Given the description of an element on the screen output the (x, y) to click on. 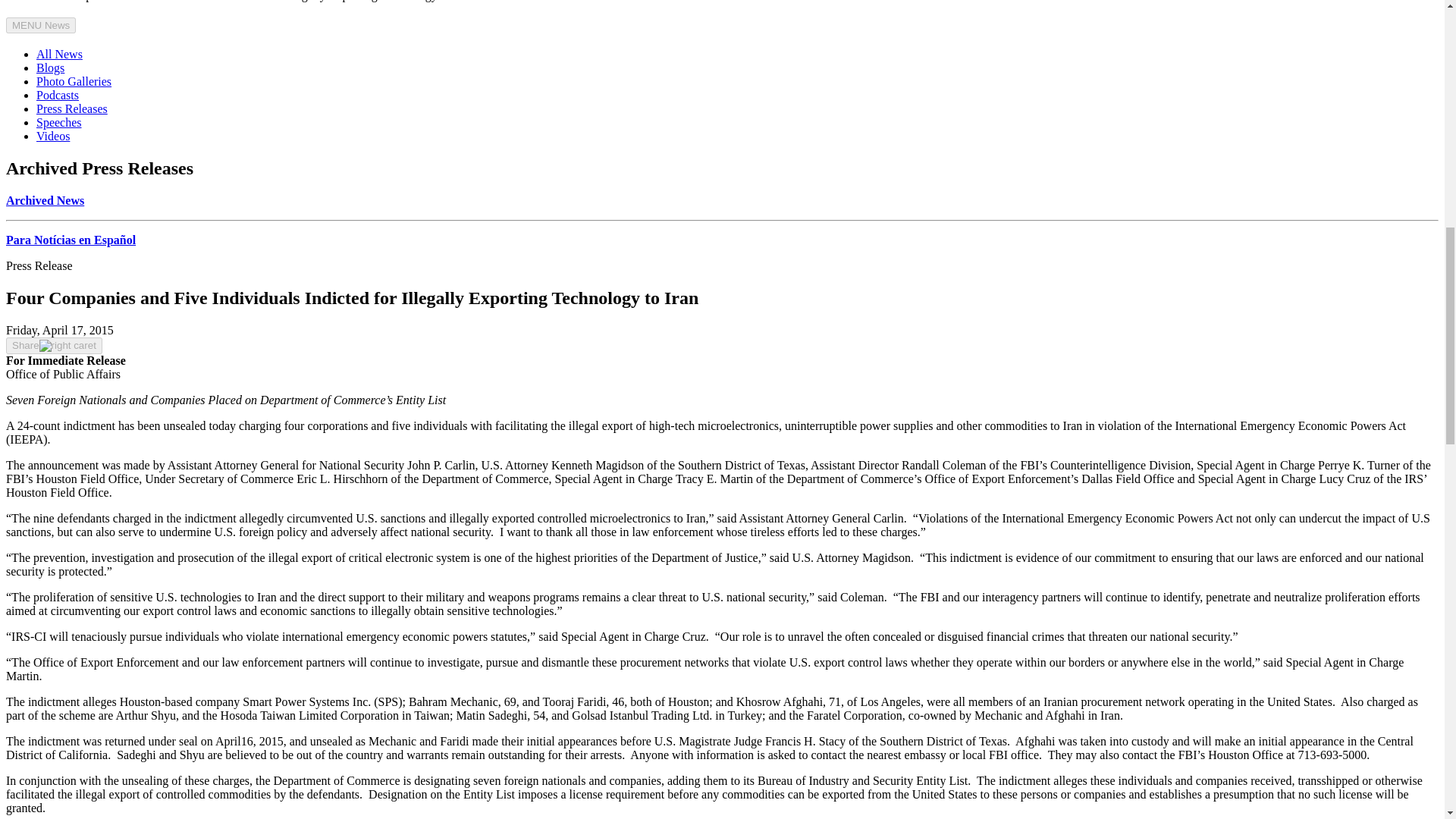
MENU News (40, 25)
Podcasts (57, 94)
Photo Galleries (74, 81)
Blogs (50, 67)
All News (59, 53)
Press Releases (71, 108)
